Given the description of an element on the screen output the (x, y) to click on. 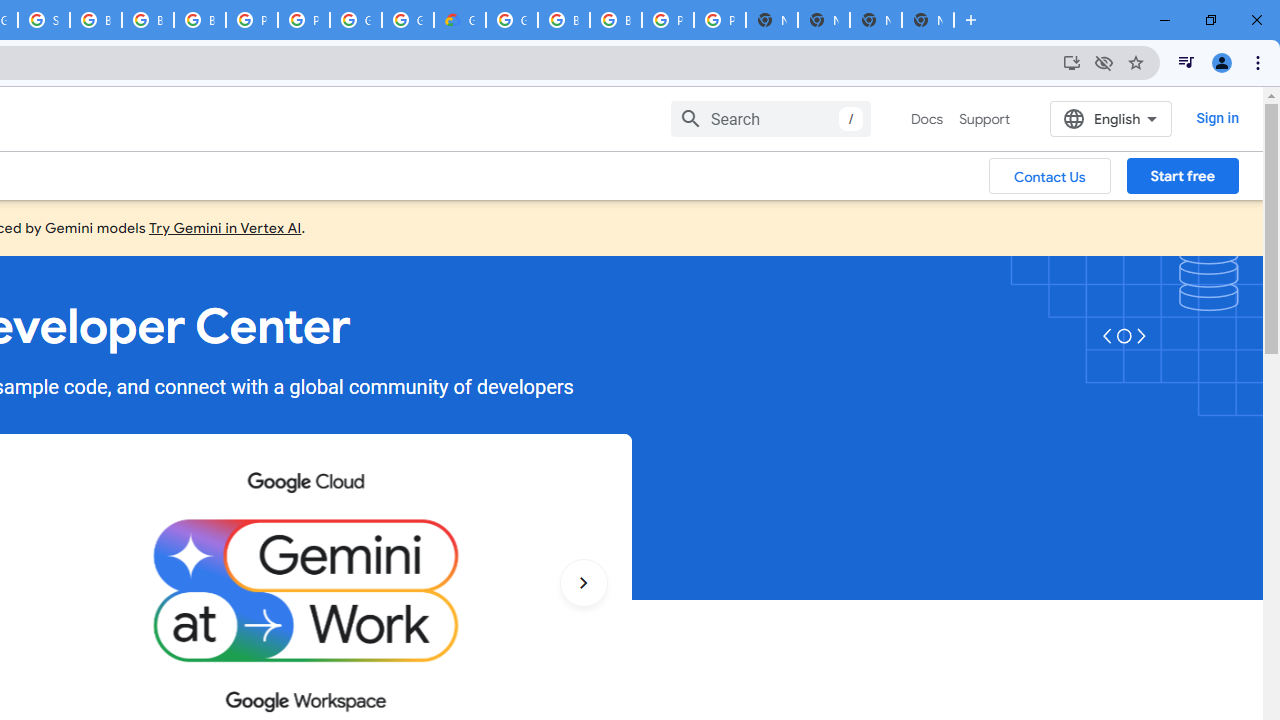
Try Gemini in Vertex AI (225, 227)
